Given the description of an element on the screen output the (x, y) to click on. 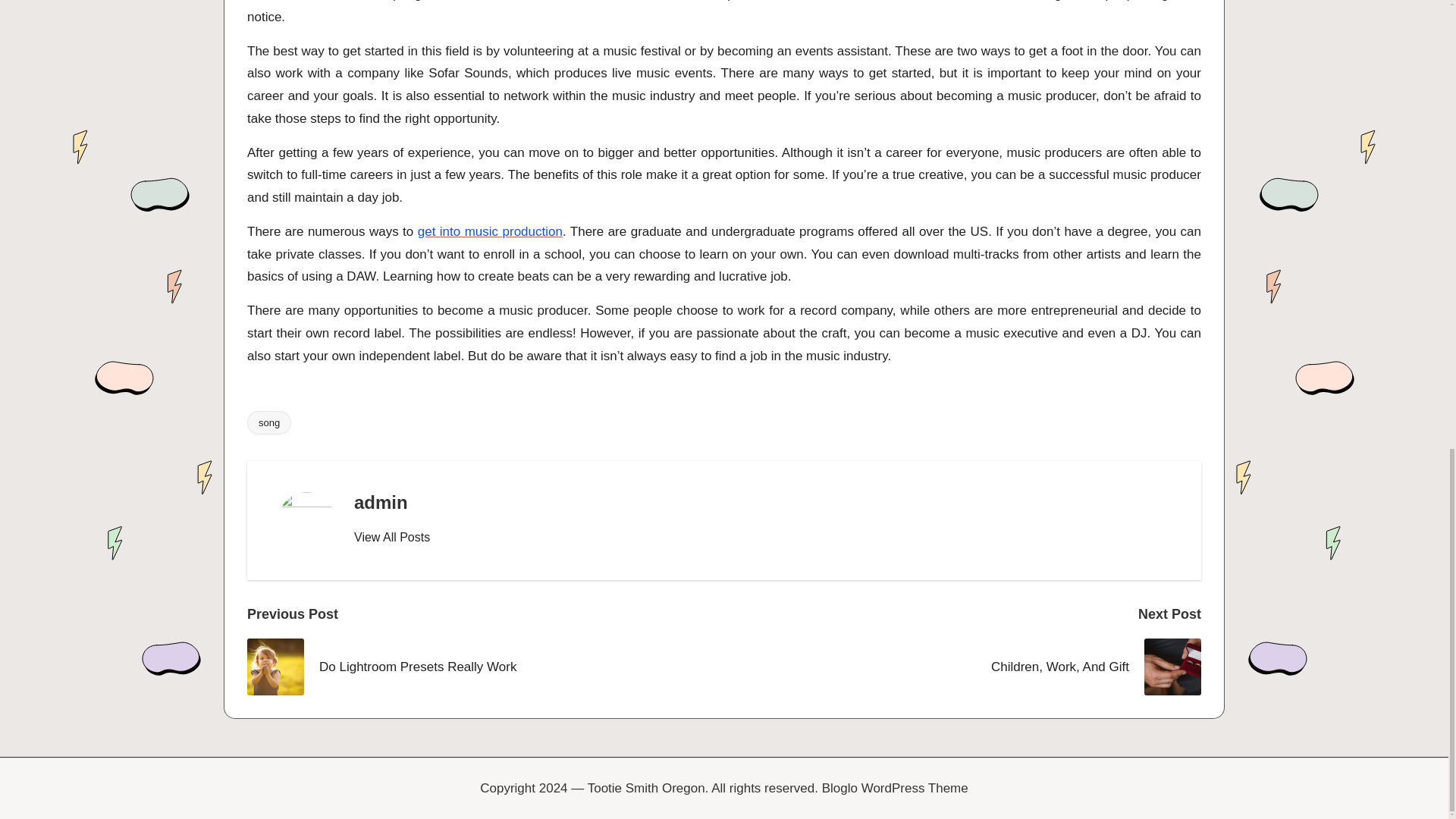
Bloglo WordPress Theme (895, 788)
Do Lightroom Presets Really Work (485, 666)
Children, Work, And Gift (962, 666)
admin (380, 502)
get into music production (489, 231)
View All Posts (391, 537)
song (269, 422)
